Given the description of an element on the screen output the (x, y) to click on. 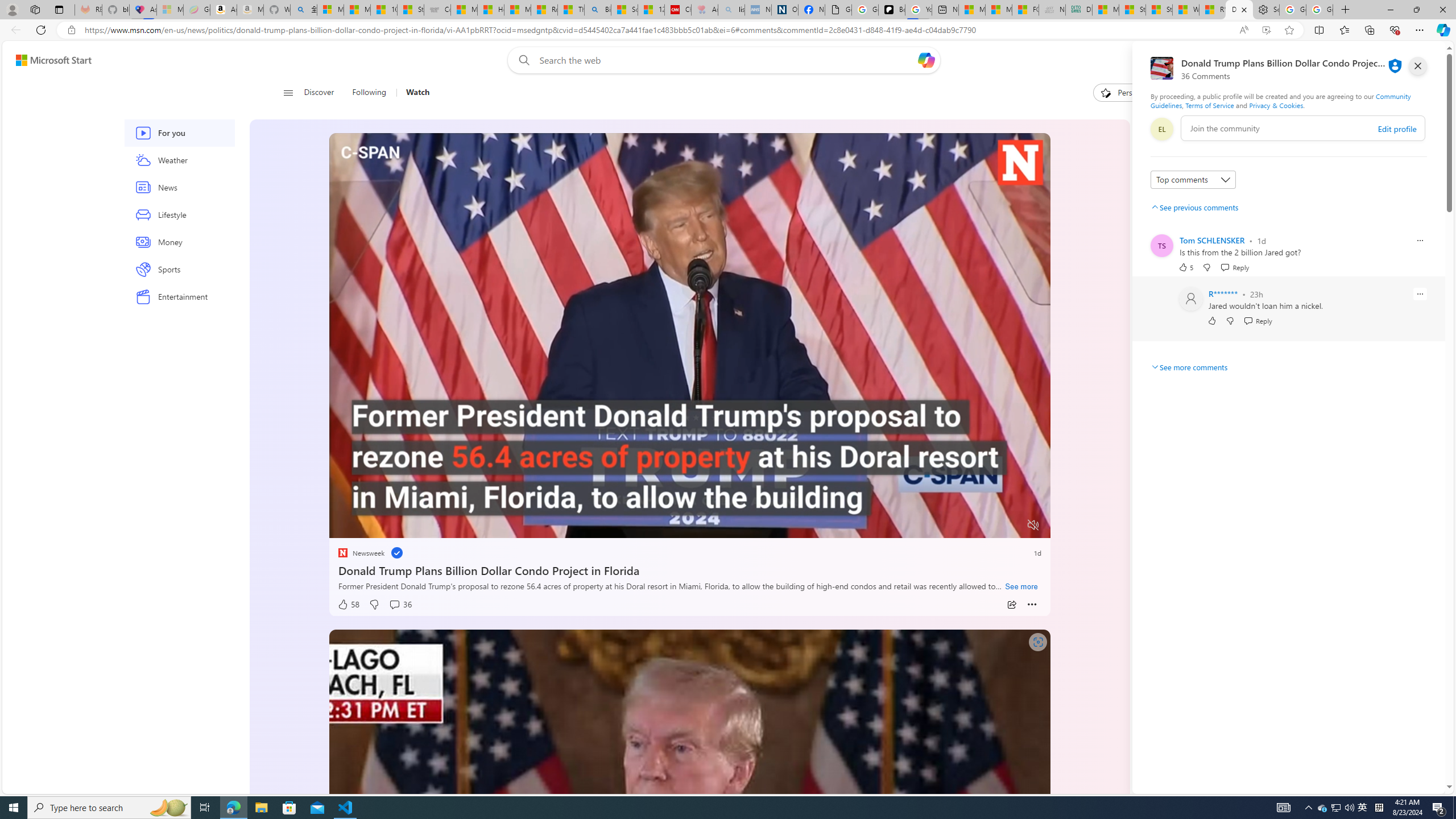
Tom SCHLENSKER (1211, 240)
See more comments (1189, 367)
Report comment (1419, 293)
See previous comments (1194, 206)
